Given the description of an element on the screen output the (x, y) to click on. 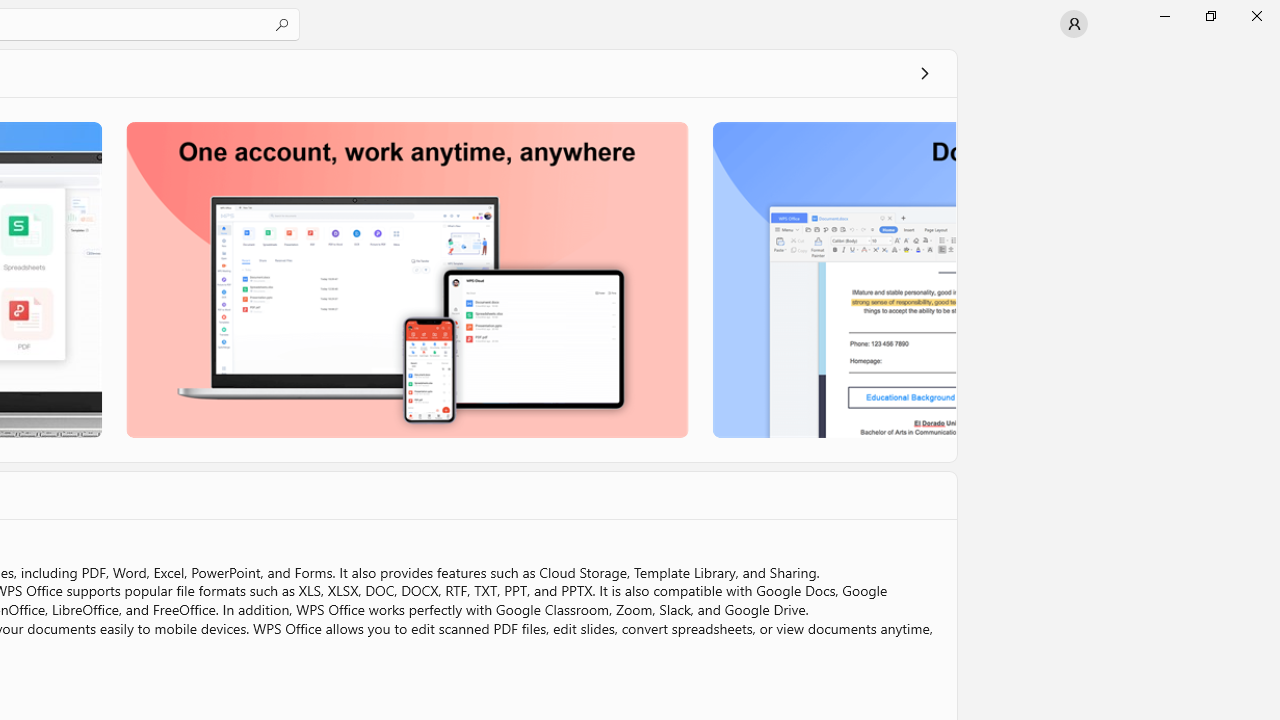
See all (924, 72)
Screenshot 3 (832, 279)
Screenshot 2 (406, 279)
